Given the description of an element on the screen output the (x, y) to click on. 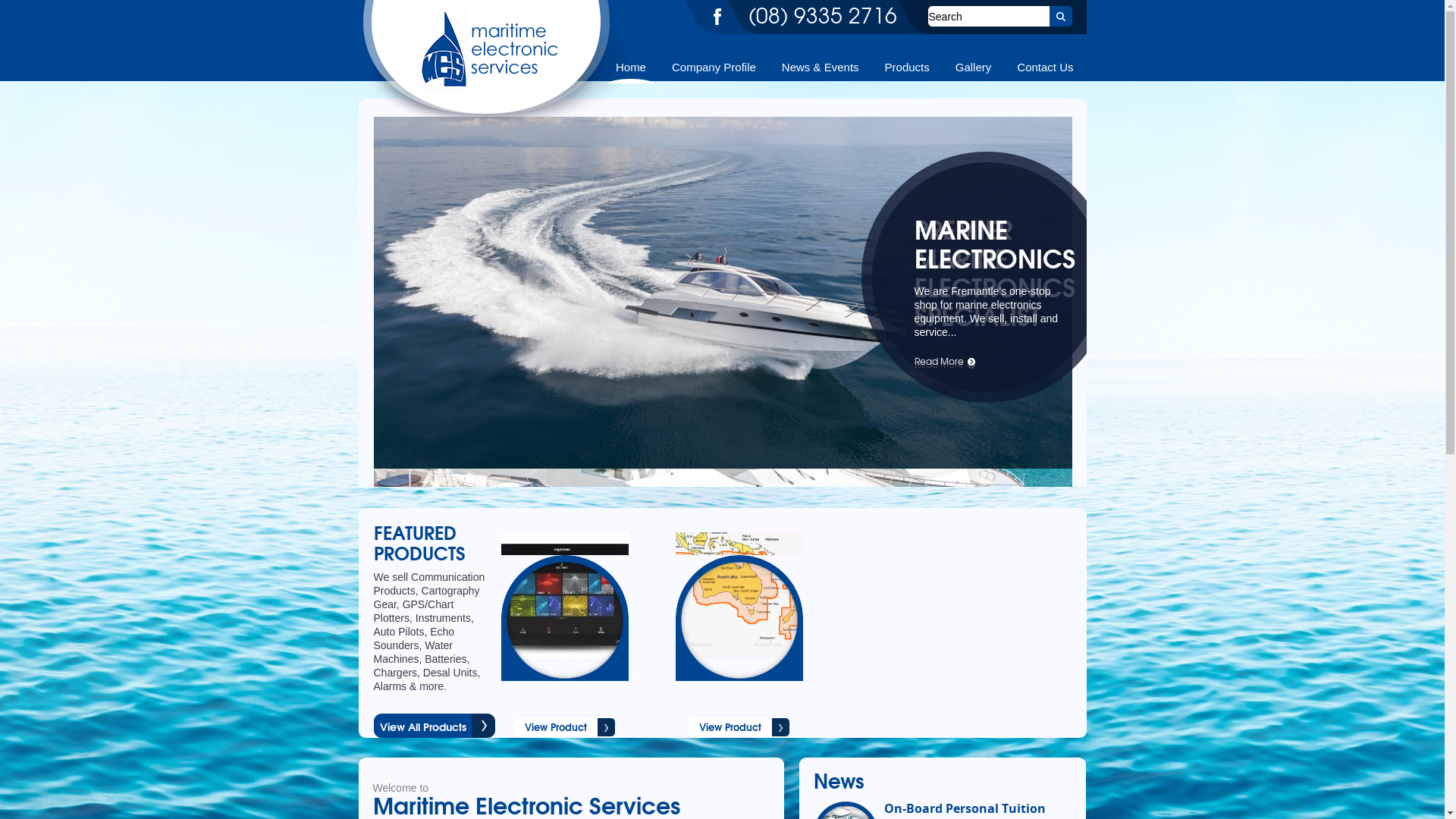
Company Profile Element type: text (713, 66)
Products Element type: text (907, 66)
Maritime Electronic Services Element type: hover (491, 122)
View All Products Element type: text (433, 725)
View Product Element type: text (564, 727)
Contact Us Element type: text (1044, 66)
Home Element type: text (630, 66)
Search Element type: text (1060, 16)
Read More Element type: text (944, 363)
View Product Element type: text (738, 727)
Navionics Element type: text (755, 685)
Gallery Element type: text (973, 66)
Read More Element type: text (944, 360)
Facebook Element type: hover (716, 16)
News & Events Element type: text (820, 66)
